Given the description of an element on the screen output the (x, y) to click on. 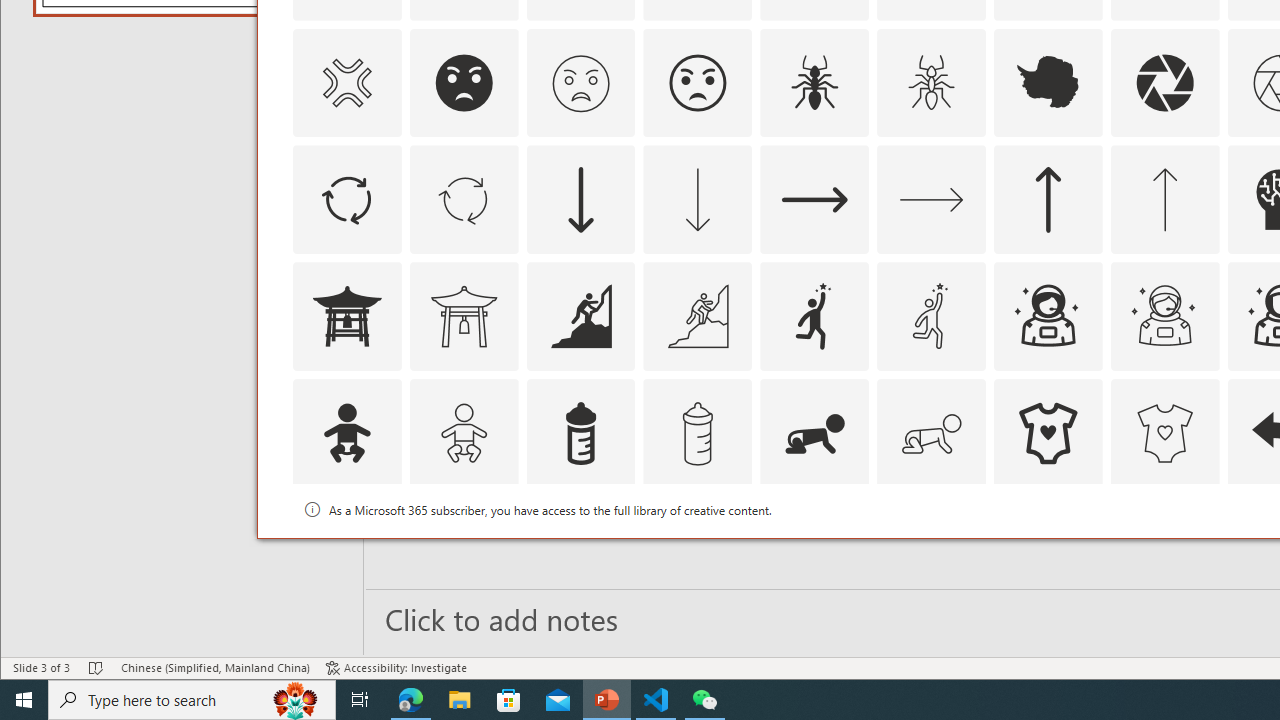
AutomationID: Icons_Baby_M (463, 434)
AutomationID: Icons_ArrowCircle_M (463, 200)
AutomationID: Icons_Badge4 (931, 550)
AutomationID: Icons_Aspiration (580, 316)
AutomationID: Icons_AsianTemple1_M (463, 316)
Task View (359, 699)
AutomationID: Icons_Antarctica (1048, 82)
AutomationID: Icons_Ant_M (931, 82)
AutomationID: Icons_AngerSymbol_M (346, 82)
Microsoft Store (509, 699)
